Given the description of an element on the screen output the (x, y) to click on. 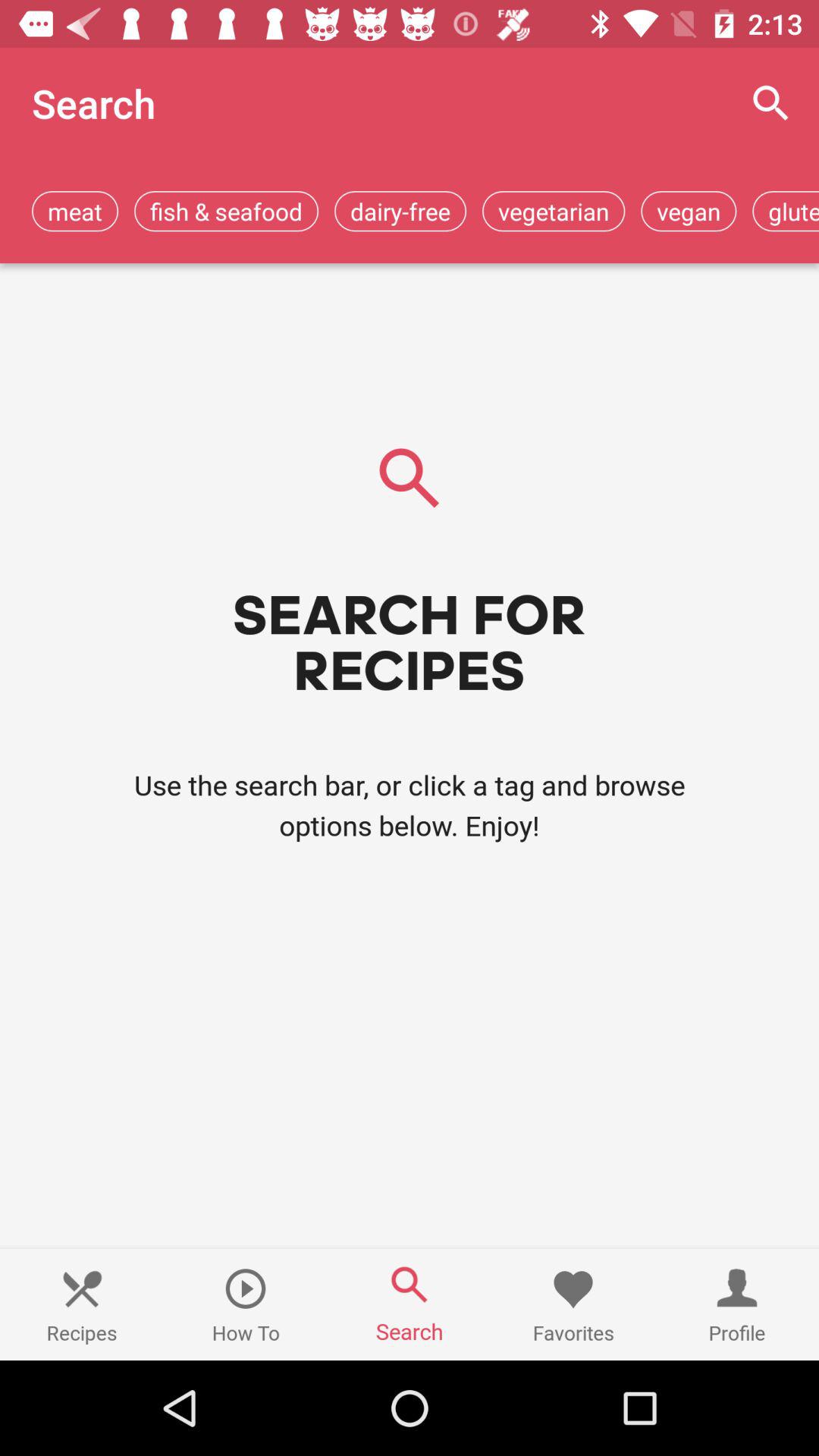
jump until the vegetarian icon (553, 211)
